Given the description of an element on the screen output the (x, y) to click on. 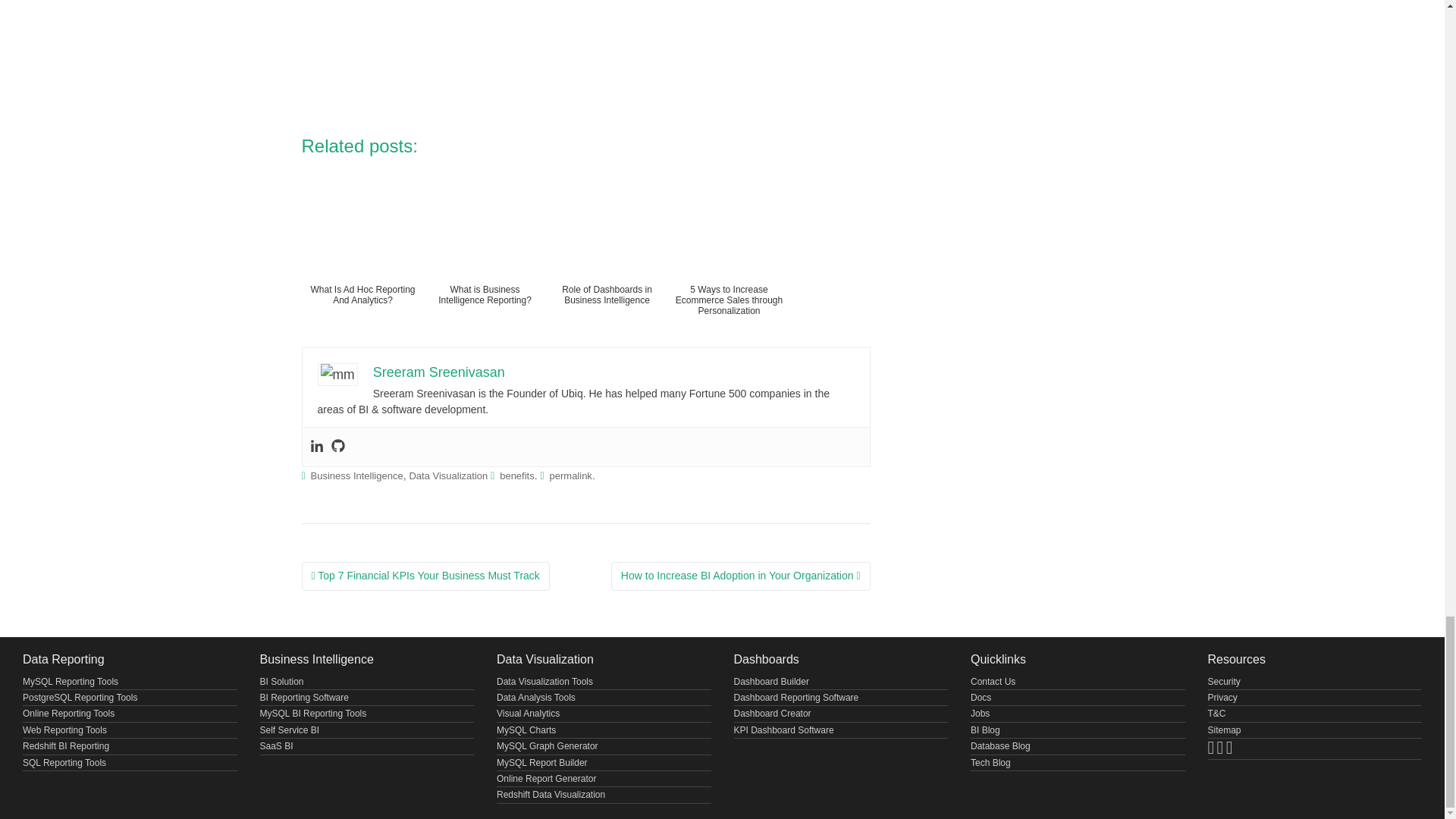
MySQL Reporting Tools (70, 681)
Data Visualization (448, 475)
Online Reporting Tools (69, 713)
SQL Reporting Tools (64, 762)
benefits (516, 475)
Redshift BI Reporting (66, 746)
Sreeram Sreenivasan (438, 372)
BI Solution (280, 681)
Self Service BI (288, 729)
PostgreSQL Reporting Tools (79, 697)
